Given the description of an element on the screen output the (x, y) to click on. 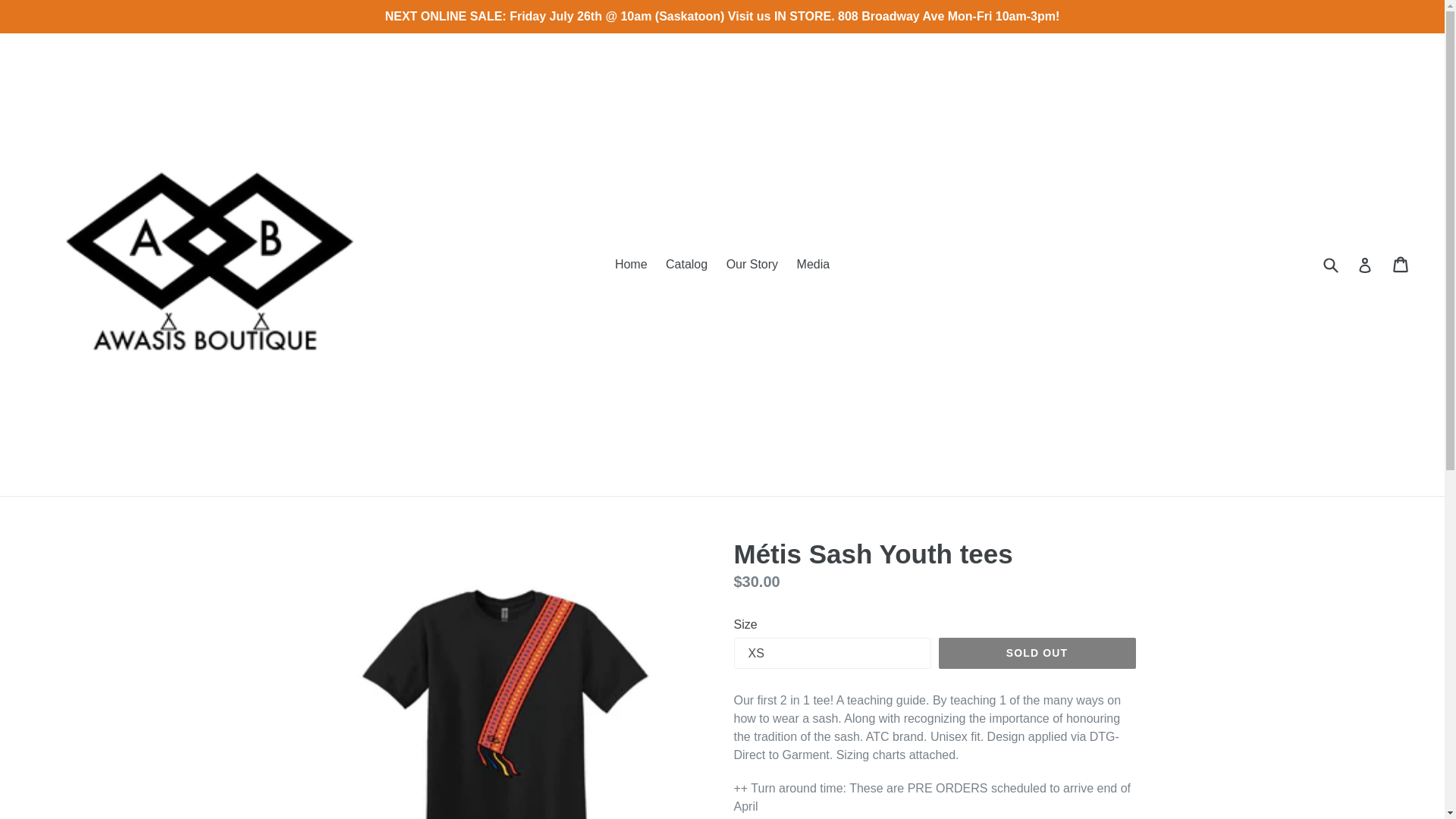
Catalog (686, 264)
Home (631, 264)
Our Story (752, 264)
Media (813, 264)
SOLD OUT (1037, 653)
